Given the description of an element on the screen output the (x, y) to click on. 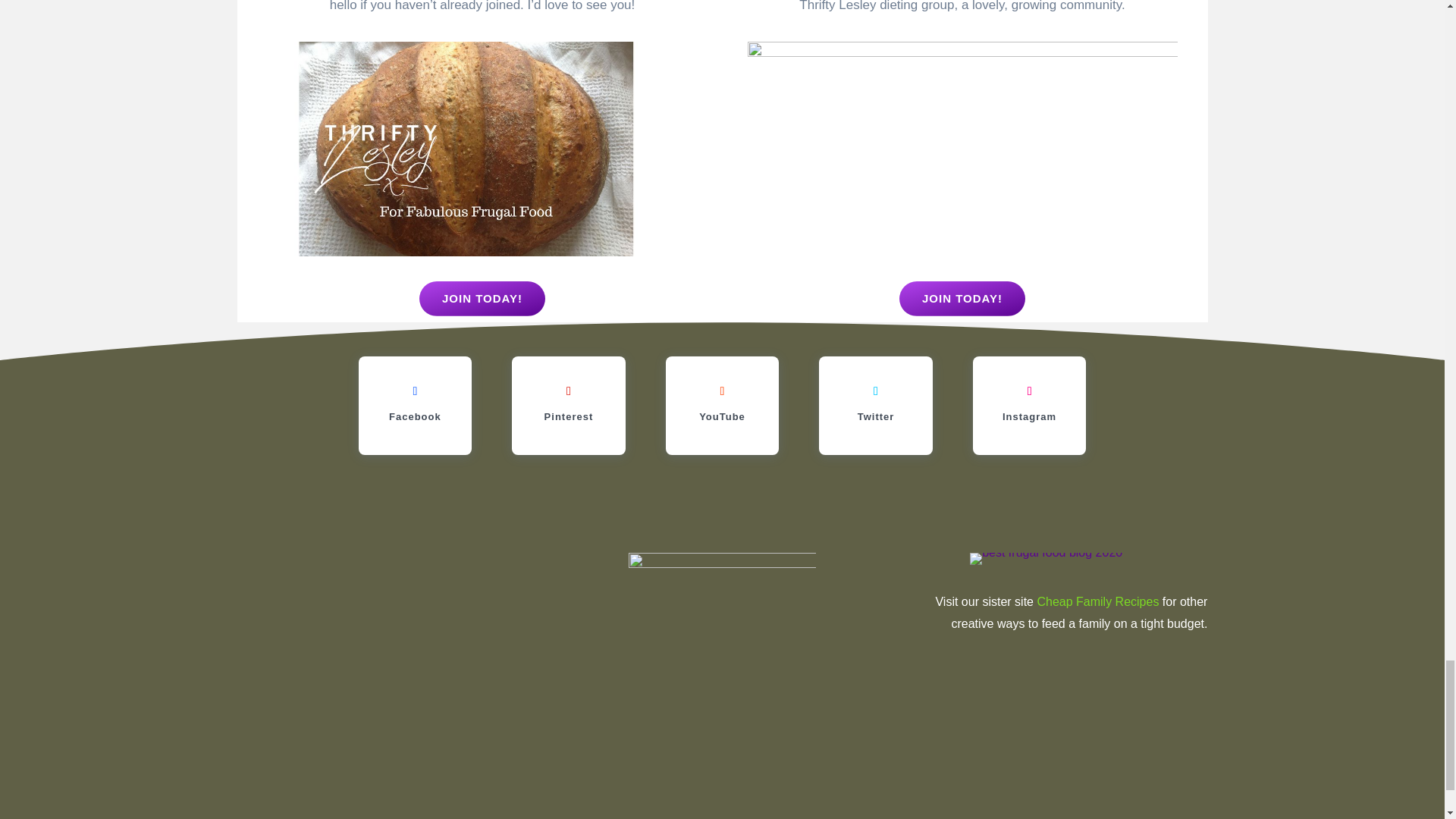
Follow on X (875, 391)
Follow on Youtube (721, 391)
best frugal food blog 2020 (1045, 558)
JOIN TODAY! (481, 298)
Follow on Pinterest (568, 391)
Follow on Facebook (414, 391)
Follow on Instagram (1029, 391)
JOIN TODAY! (962, 298)
